Given the description of an element on the screen output the (x, y) to click on. 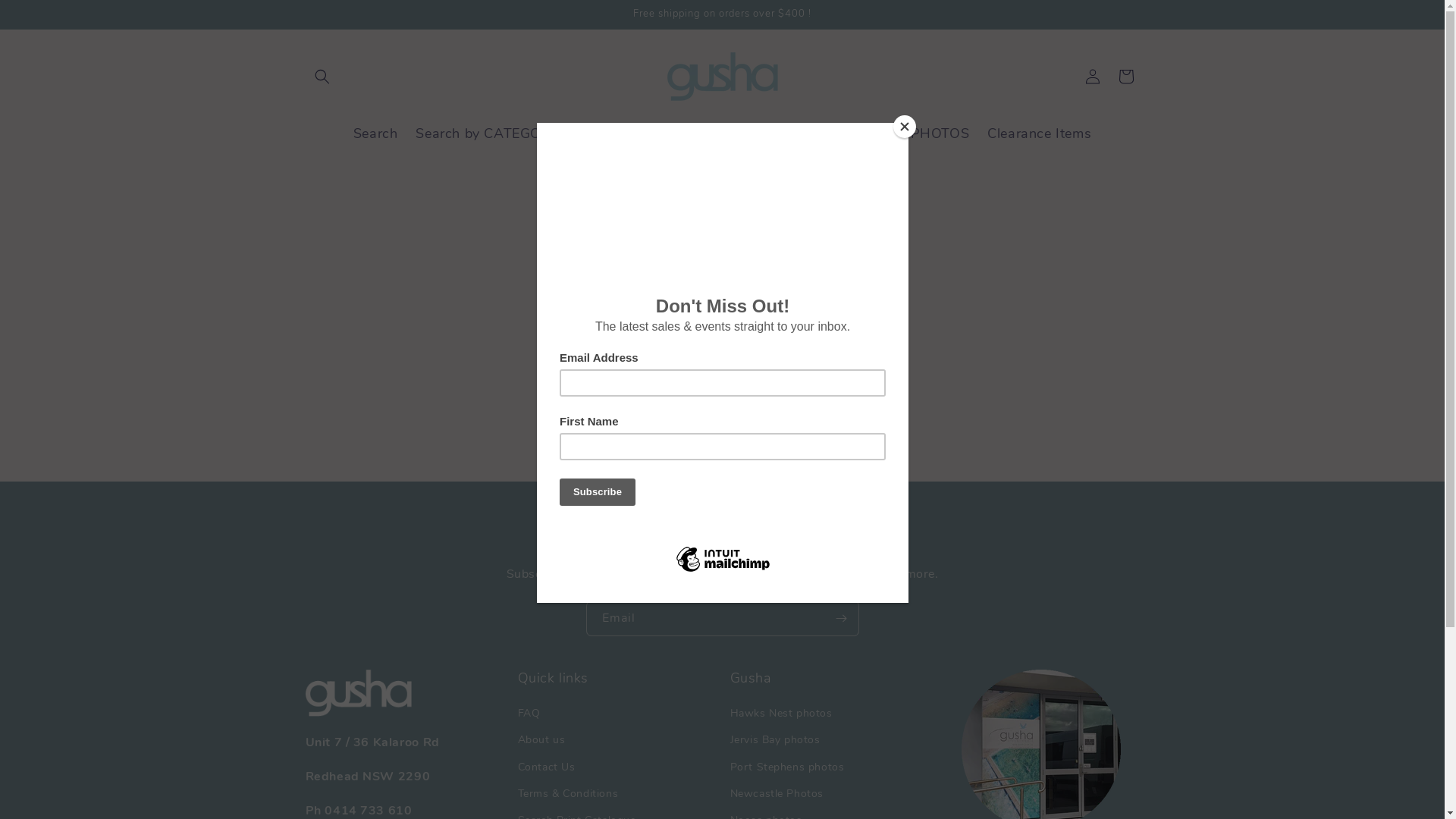
Cart Element type: text (1125, 75)
Contact Us Element type: text (545, 766)
Contact Us Element type: text (826, 169)
Search Element type: text (375, 132)
About us Element type: text (540, 739)
FAQ Element type: text (528, 714)
Terms & Conditions Element type: text (567, 793)
Newcastle Photos Element type: text (776, 793)
Hawks Nest photos Element type: text (780, 714)
Continue shopping Element type: text (721, 410)
Port Stephens photos Element type: text (786, 766)
Log in Element type: text (1091, 75)
About Us Element type: text (741, 169)
Jervis Bay photos Element type: text (774, 739)
NEW PHOTOS Element type: text (920, 132)
Clearance Items Element type: text (1039, 132)
